Given the description of an element on the screen output the (x, y) to click on. 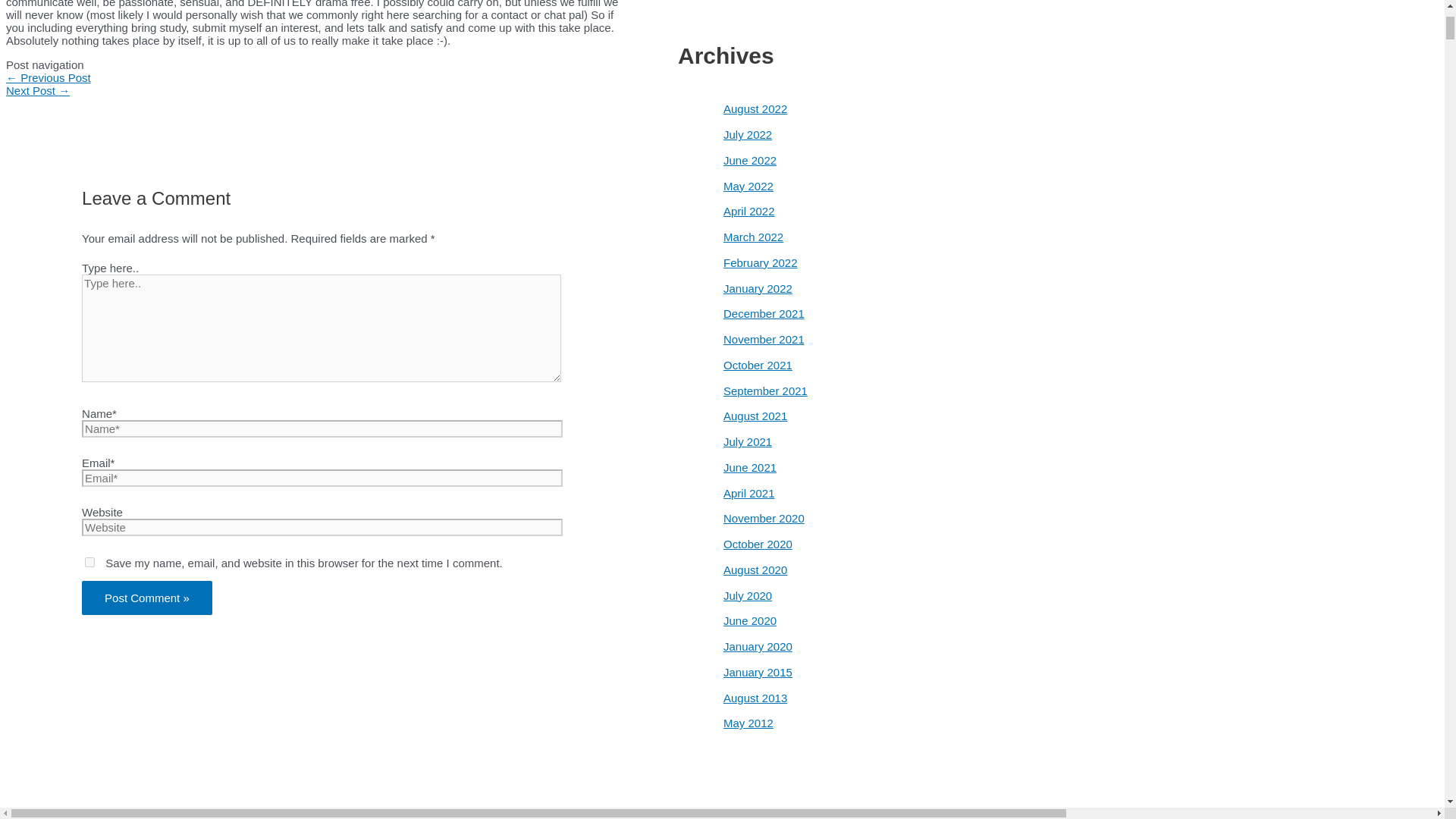
January 2022 (757, 287)
February 2022 (760, 262)
July 2022 (747, 133)
March 2022 (753, 236)
December 2021 (764, 313)
June 2022 (749, 160)
August 2022 (755, 108)
April 2022 (748, 210)
yes (89, 562)
May 2022 (748, 185)
November 2021 (764, 338)
